Given the description of an element on the screen output the (x, y) to click on. 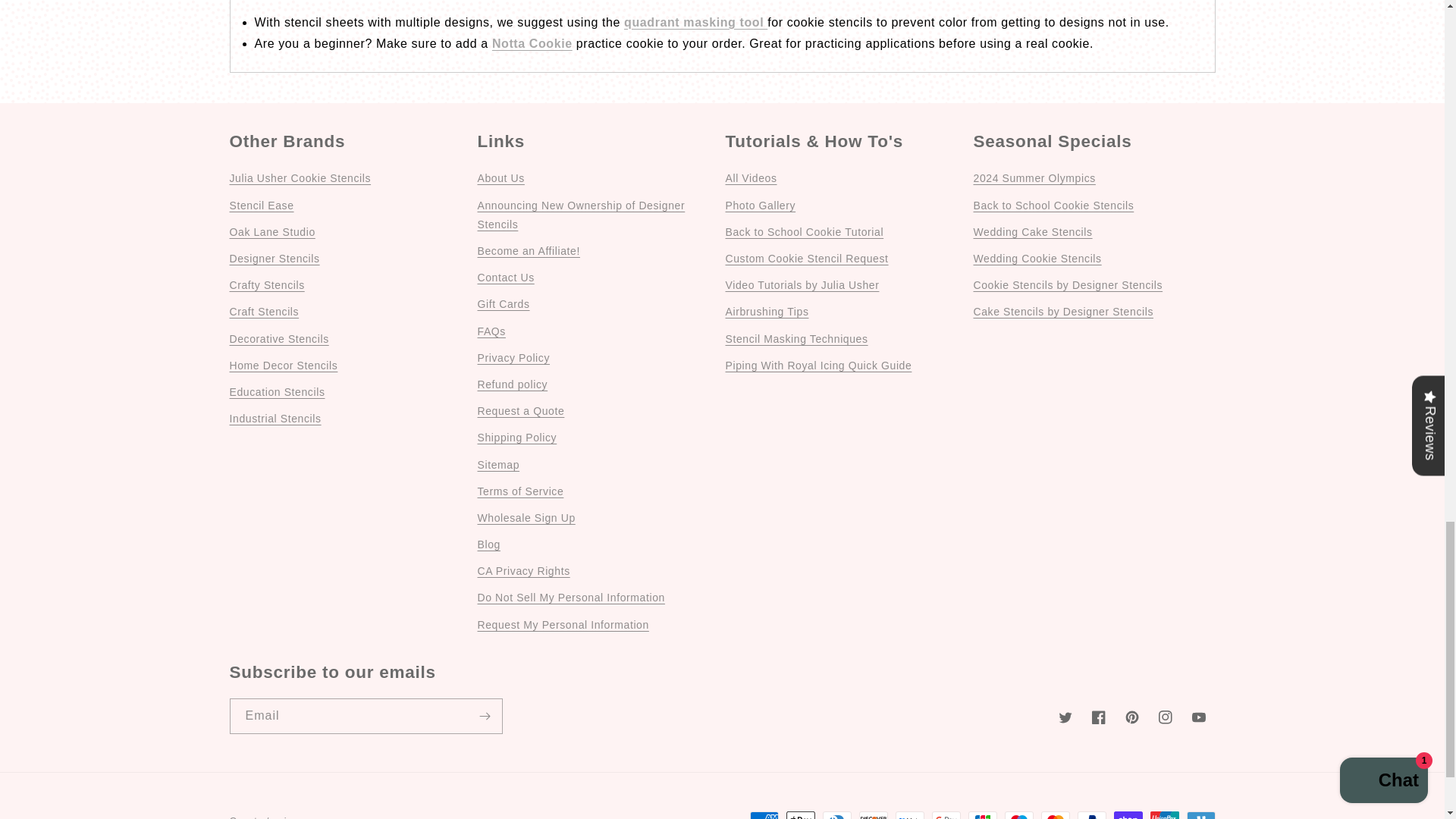
Notta Cookie Reusable Practice Cookie (532, 42)
Quadrant Masking Tool for Cookie Decorating (695, 21)
